Given the description of an element on the screen output the (x, y) to click on. 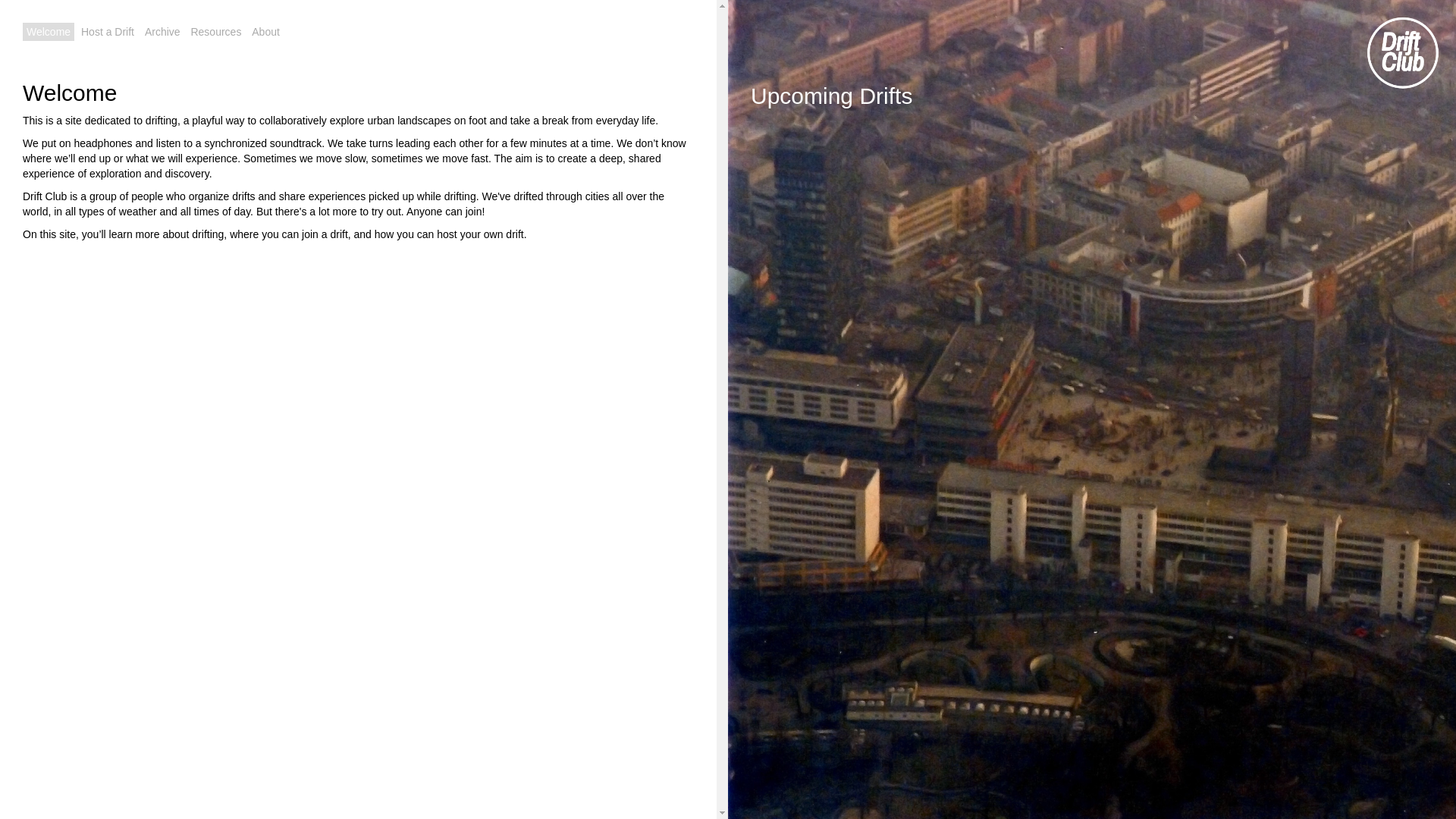
About Element type: text (265, 31)
Archive Element type: text (162, 31)
Welcome Element type: text (48, 31)
Resources Element type: text (215, 31)
Host a Drift Element type: text (107, 31)
